Given the description of an element on the screen output the (x, y) to click on. 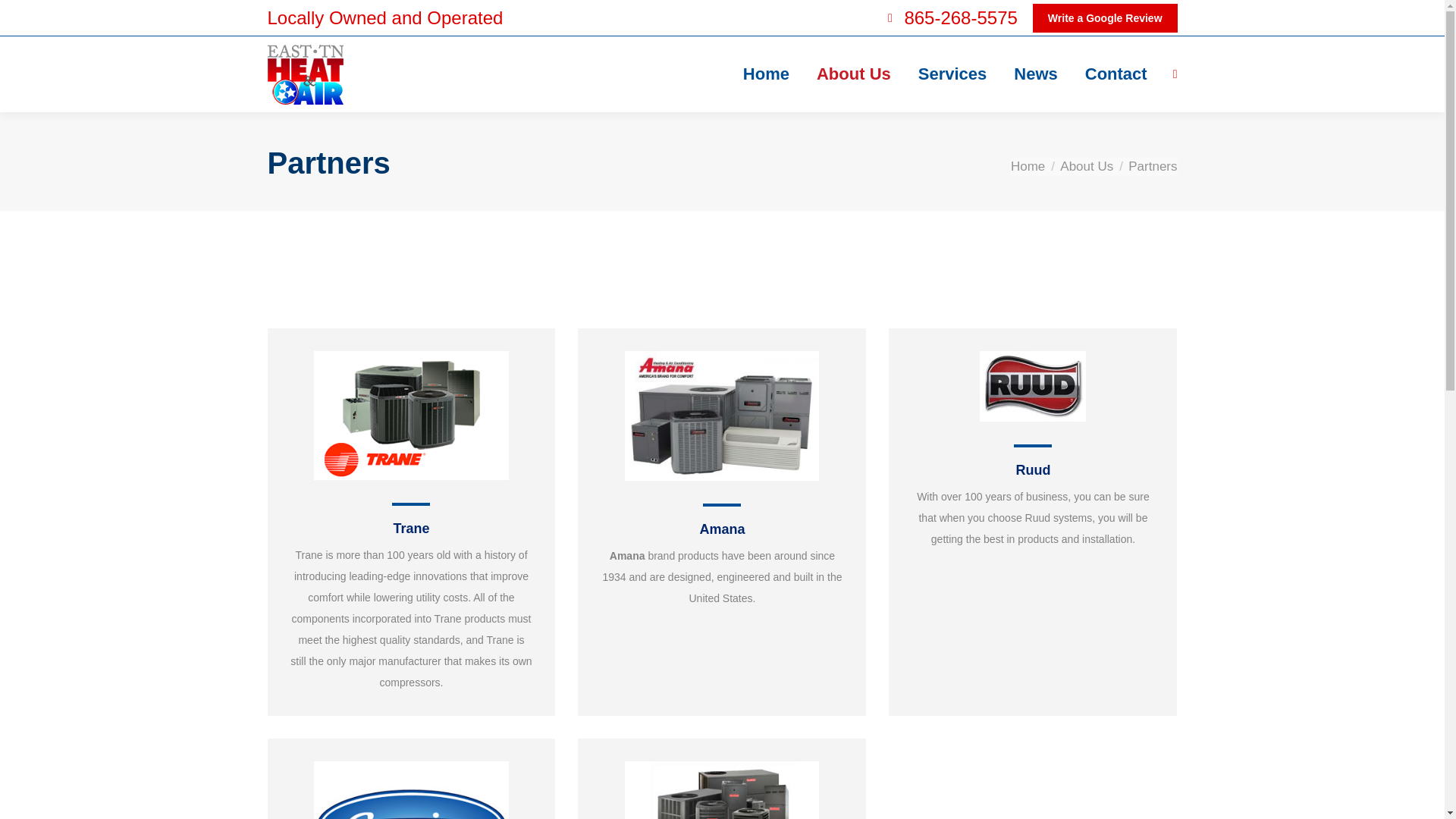
Home (1027, 165)
Go! (24, 17)
About Us (853, 73)
Services (952, 73)
News (1034, 73)
About Us (1086, 165)
Contact (1115, 73)
About Us (1086, 165)
Home (1027, 165)
Write a Google Review (1104, 18)
